Given the description of an element on the screen output the (x, y) to click on. 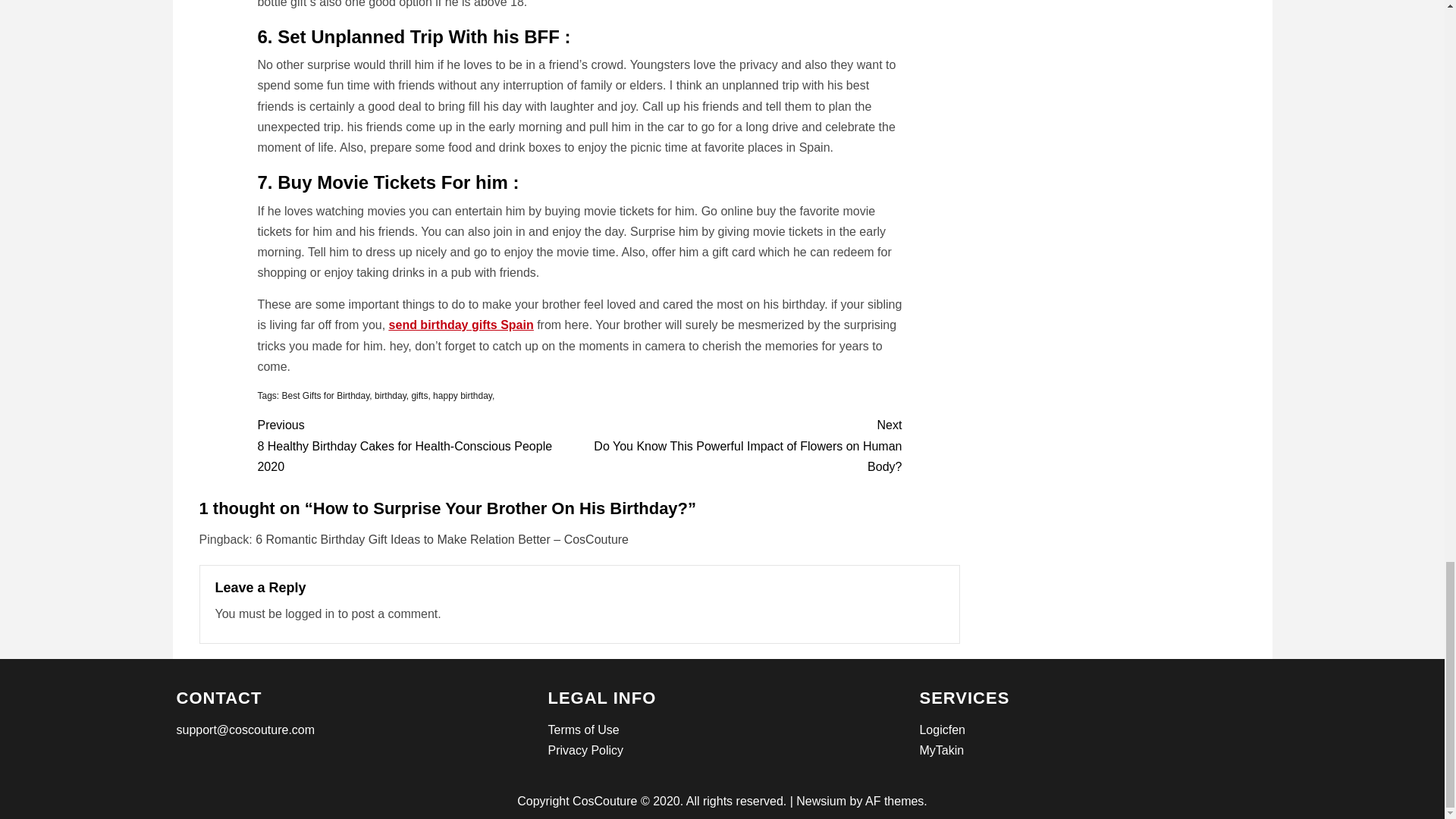
Terms of Use (582, 729)
MyTakin (940, 749)
Newsium (820, 800)
Logicfen (941, 729)
Privacy Policy (585, 749)
send birthday gifts Spain (461, 324)
